Given the description of an element on the screen output the (x, y) to click on. 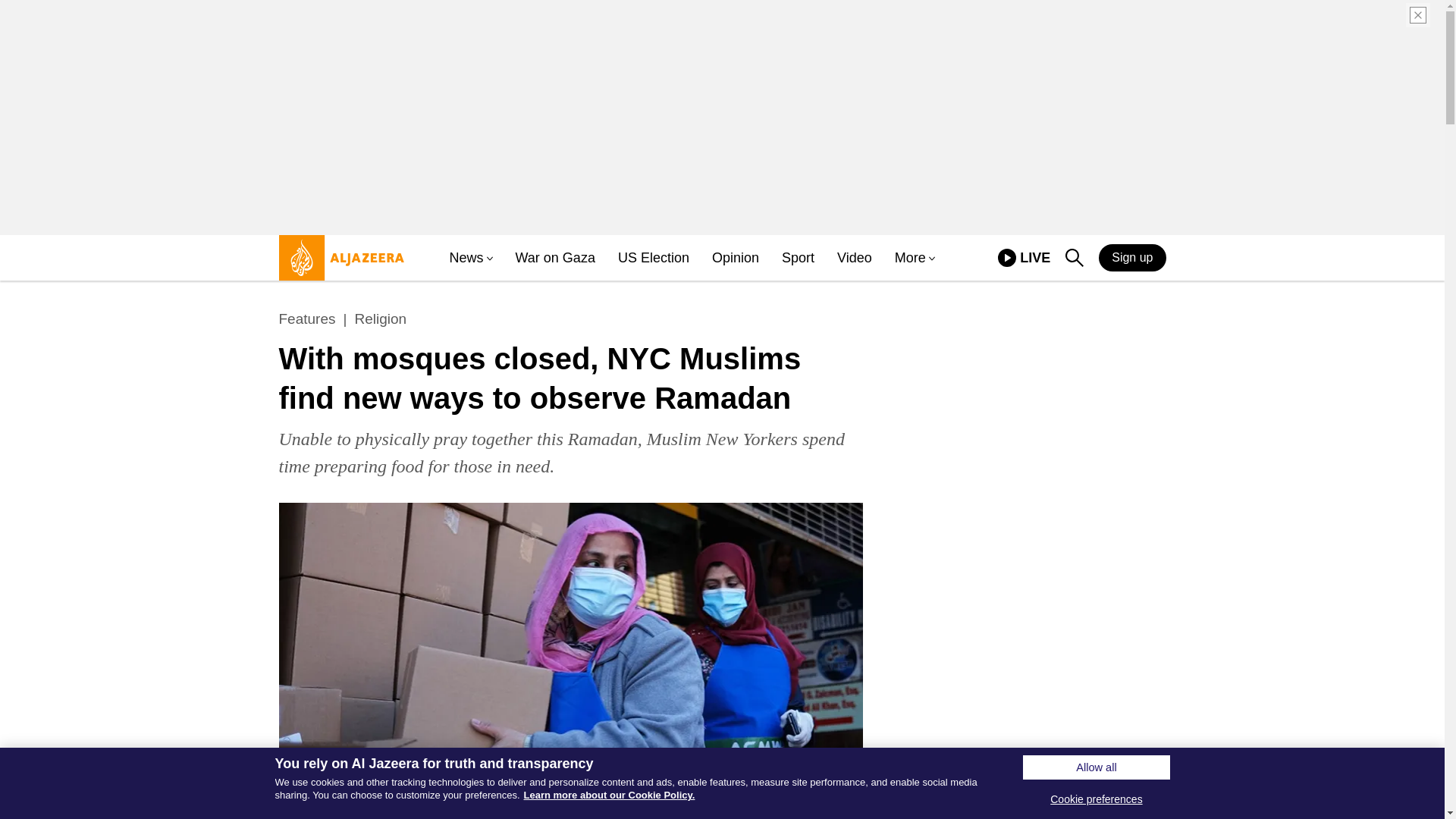
Religion (379, 319)
Sign up (1132, 257)
US Election (652, 257)
Video (854, 257)
search (1023, 257)
play (1074, 257)
War on Gaza (1006, 257)
Features (555, 257)
Opinion (307, 319)
